Given the description of an element on the screen output the (x, y) to click on. 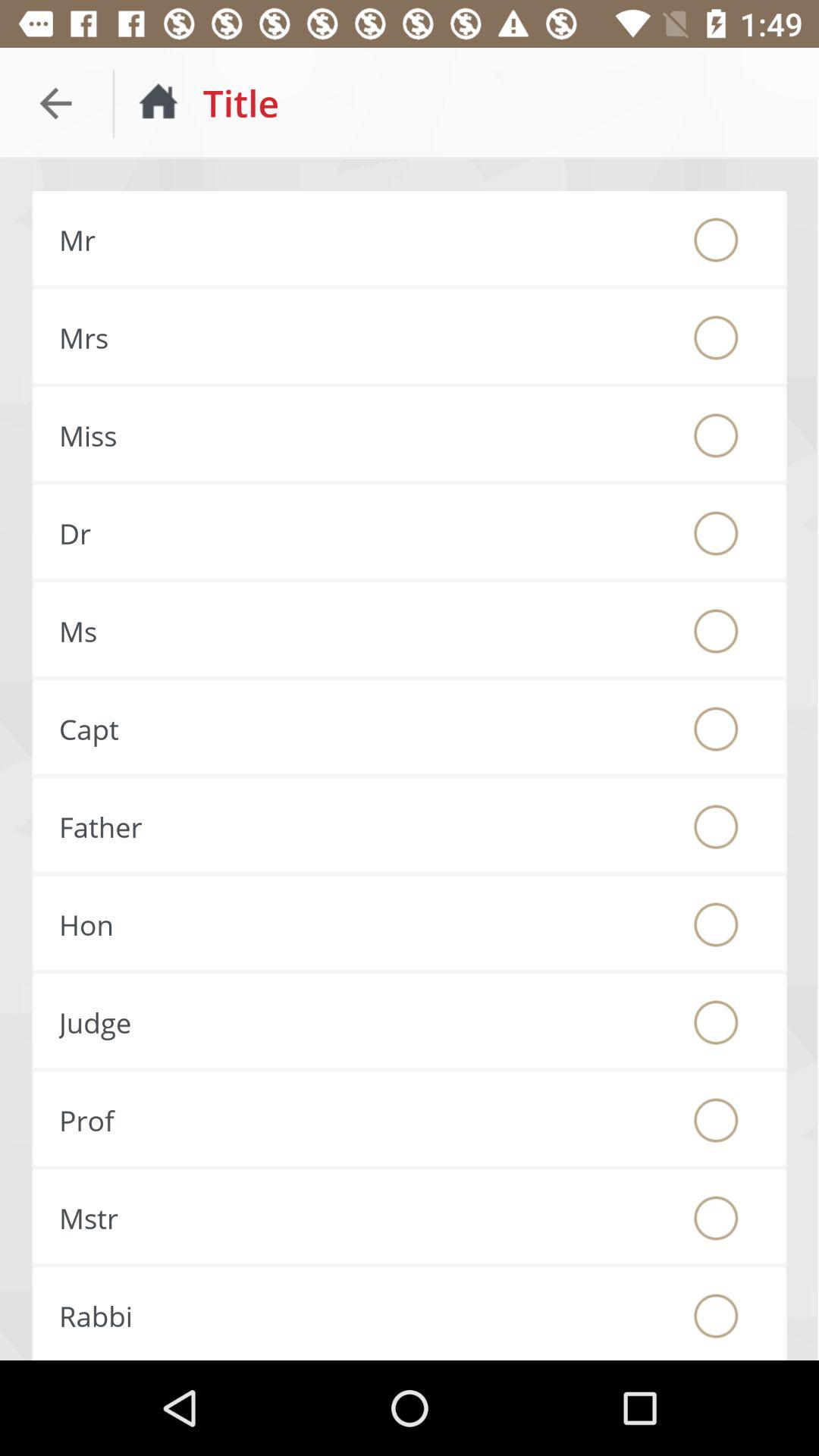
choose if this is your title (715, 1218)
